Given the description of an element on the screen output the (x, y) to click on. 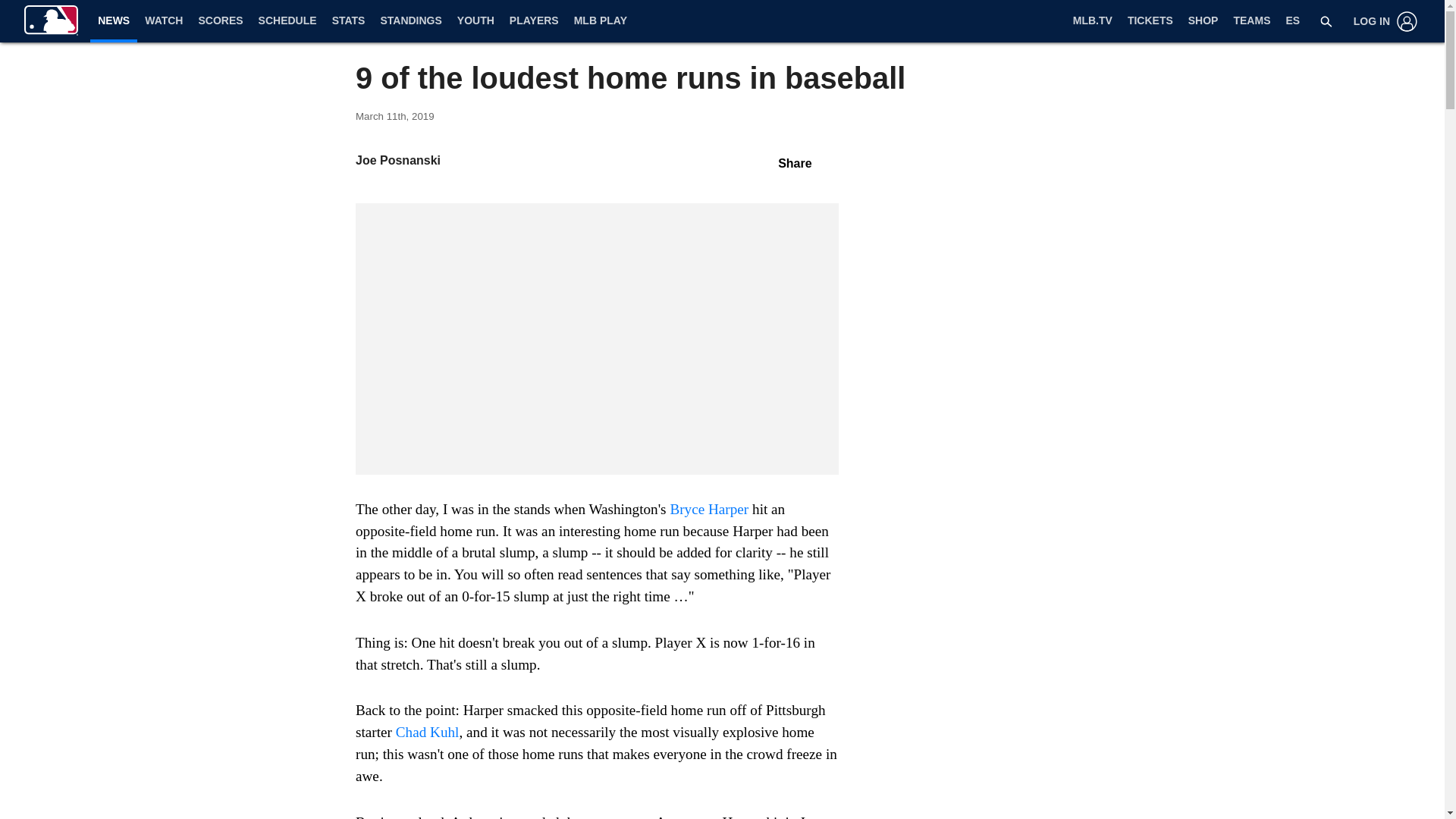
SCHEDULE (287, 21)
search-87717 (1326, 21)
STATS (348, 21)
YOUTH (475, 21)
SCORES (220, 21)
WATCH (163, 21)
NEWS (113, 19)
STANDINGS (410, 21)
